Given the description of an element on the screen output the (x, y) to click on. 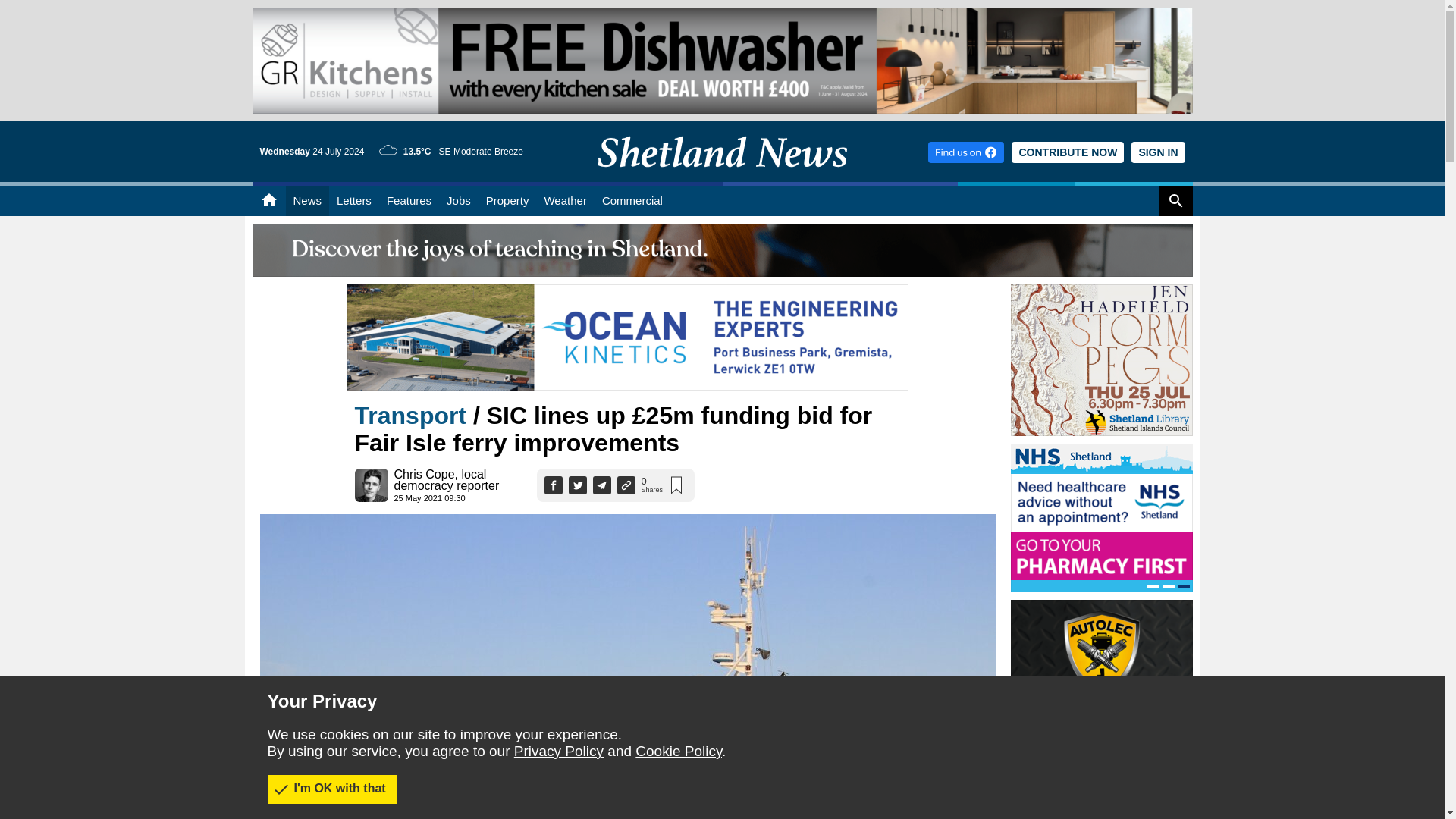
Shetland News Login (1158, 151)
G R Direct - Free Dishwasher Offer (721, 60)
Shetland News Home (721, 177)
CONTRIBUTE NOW (1067, 151)
Support Shetland News (1067, 151)
SIGN IN (1158, 151)
Find us on Facebook (966, 151)
Home (268, 200)
News (307, 200)
News (307, 200)
